Given the description of an element on the screen output the (x, y) to click on. 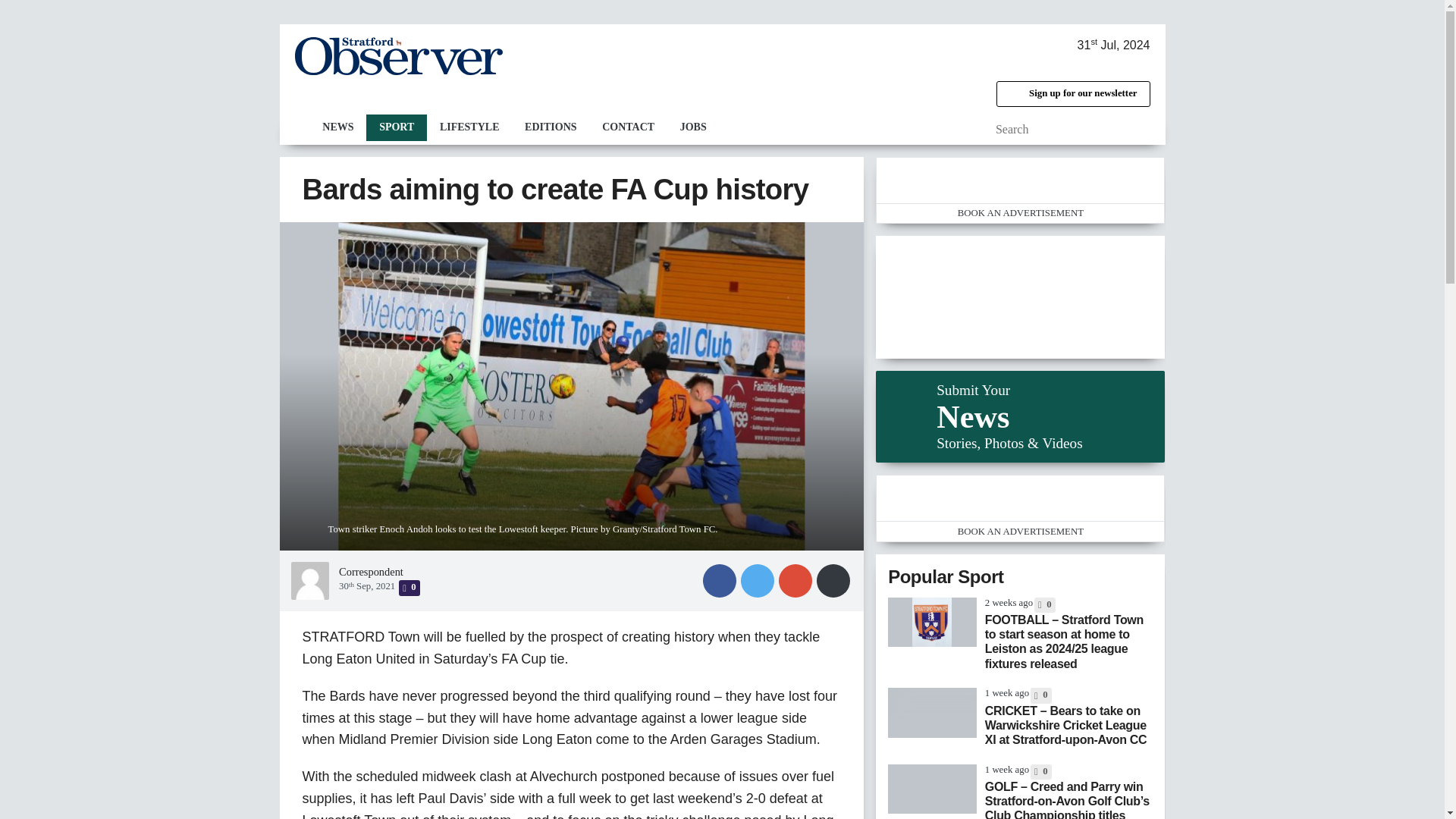
LIFESTYLE (469, 127)
NEWS (337, 127)
CONTACT (627, 127)
EDITIONS (550, 127)
SPORT (396, 127)
JOBS (692, 127)
The Stratford Observer (398, 55)
  Sign up for our newsletter (1072, 94)
